Given the description of an element on the screen output the (x, y) to click on. 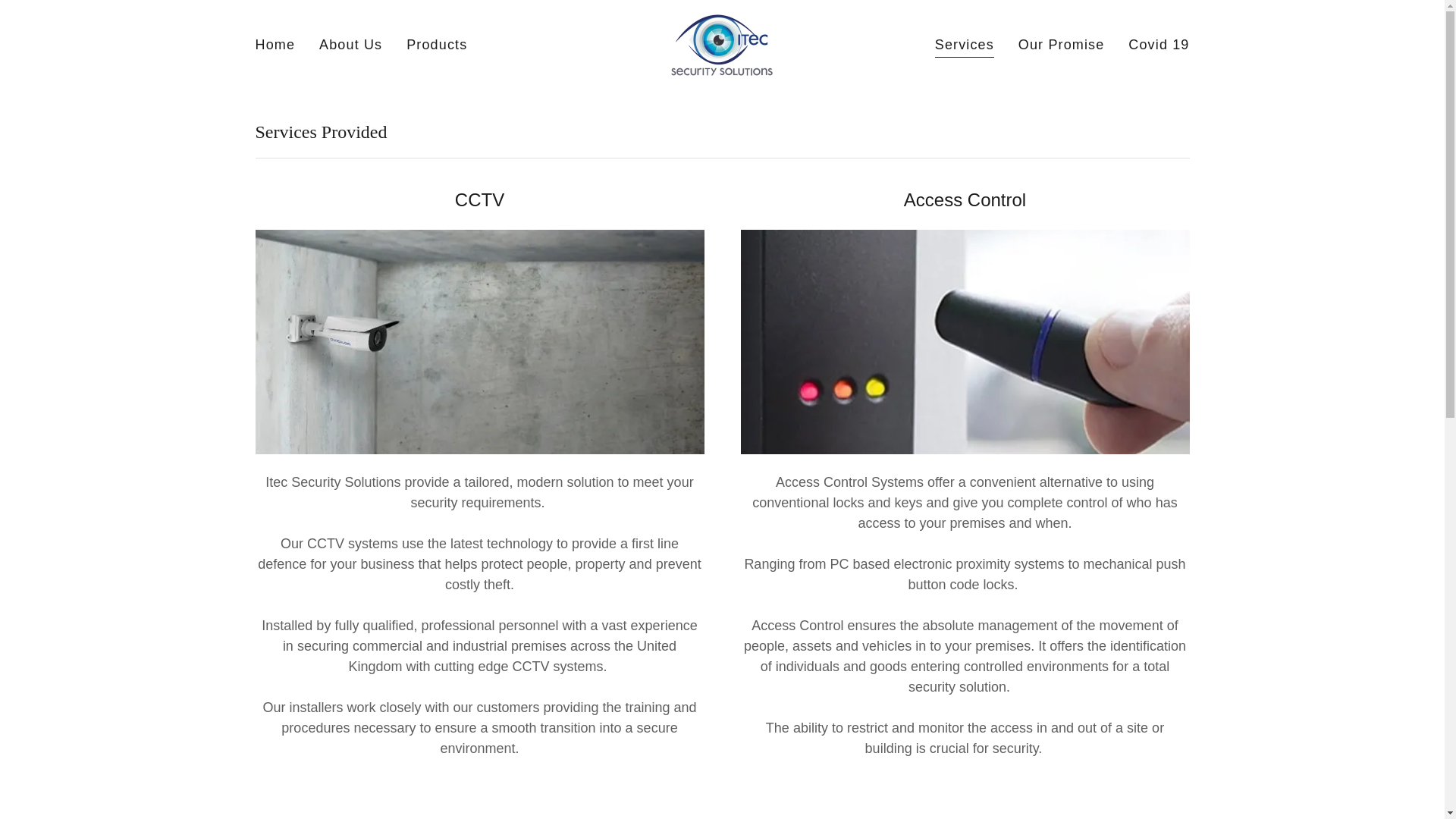
Covid 19 (1158, 44)
Home (274, 44)
About Us (350, 44)
Our Promise (1061, 44)
Products (436, 44)
Services (964, 46)
